Given the description of an element on the screen output the (x, y) to click on. 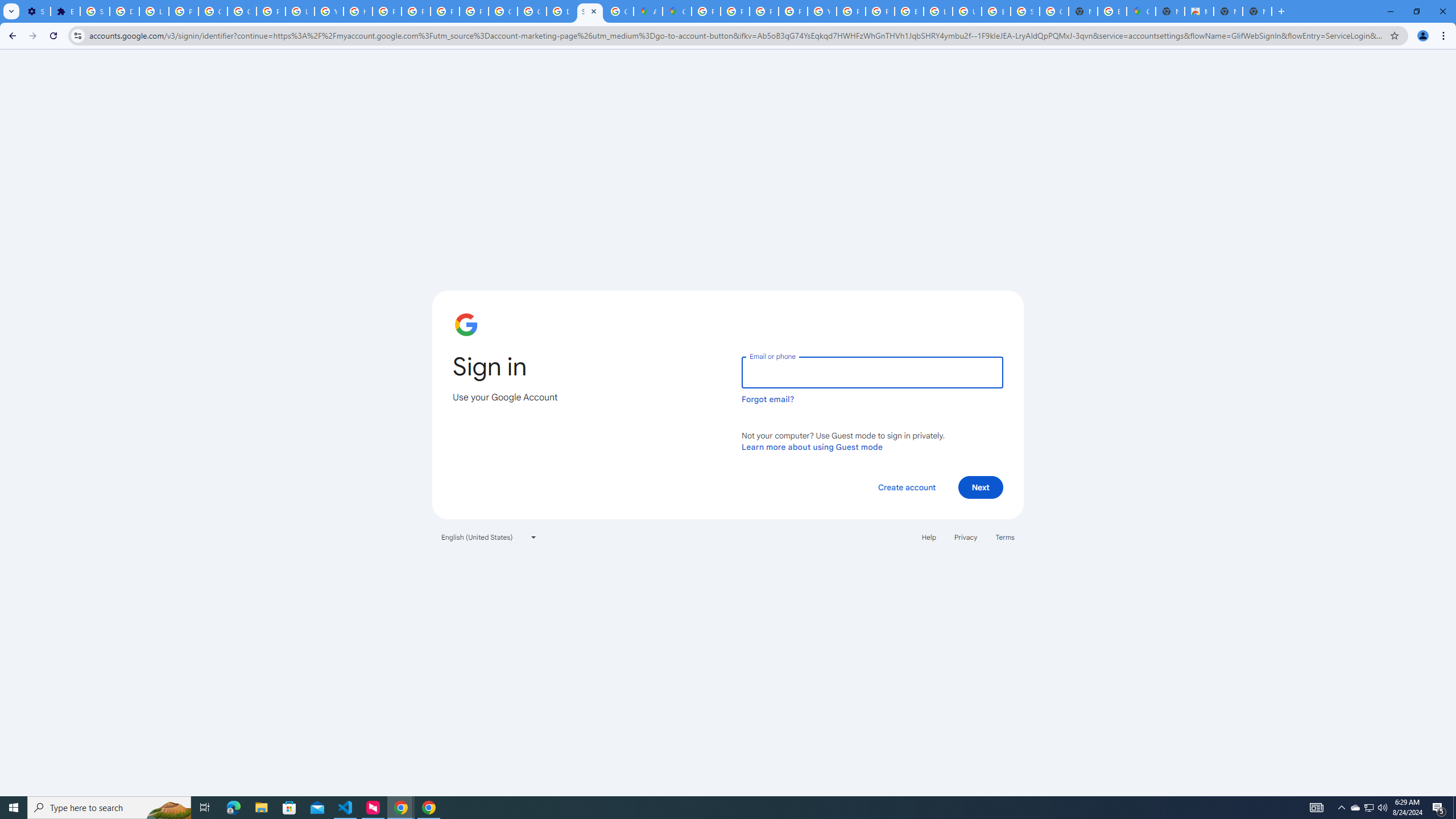
Restore (1416, 11)
Address and search bar (735, 35)
YouTube (327, 11)
Forward (32, 35)
Privacy (965, 536)
Close (593, 11)
Minimize (1390, 11)
Google Maps (677, 11)
Create your Google Account (619, 11)
Delete photos & videos - Computer - Google Photos Help (124, 11)
Terms (1005, 536)
